Given the description of an element on the screen output the (x, y) to click on. 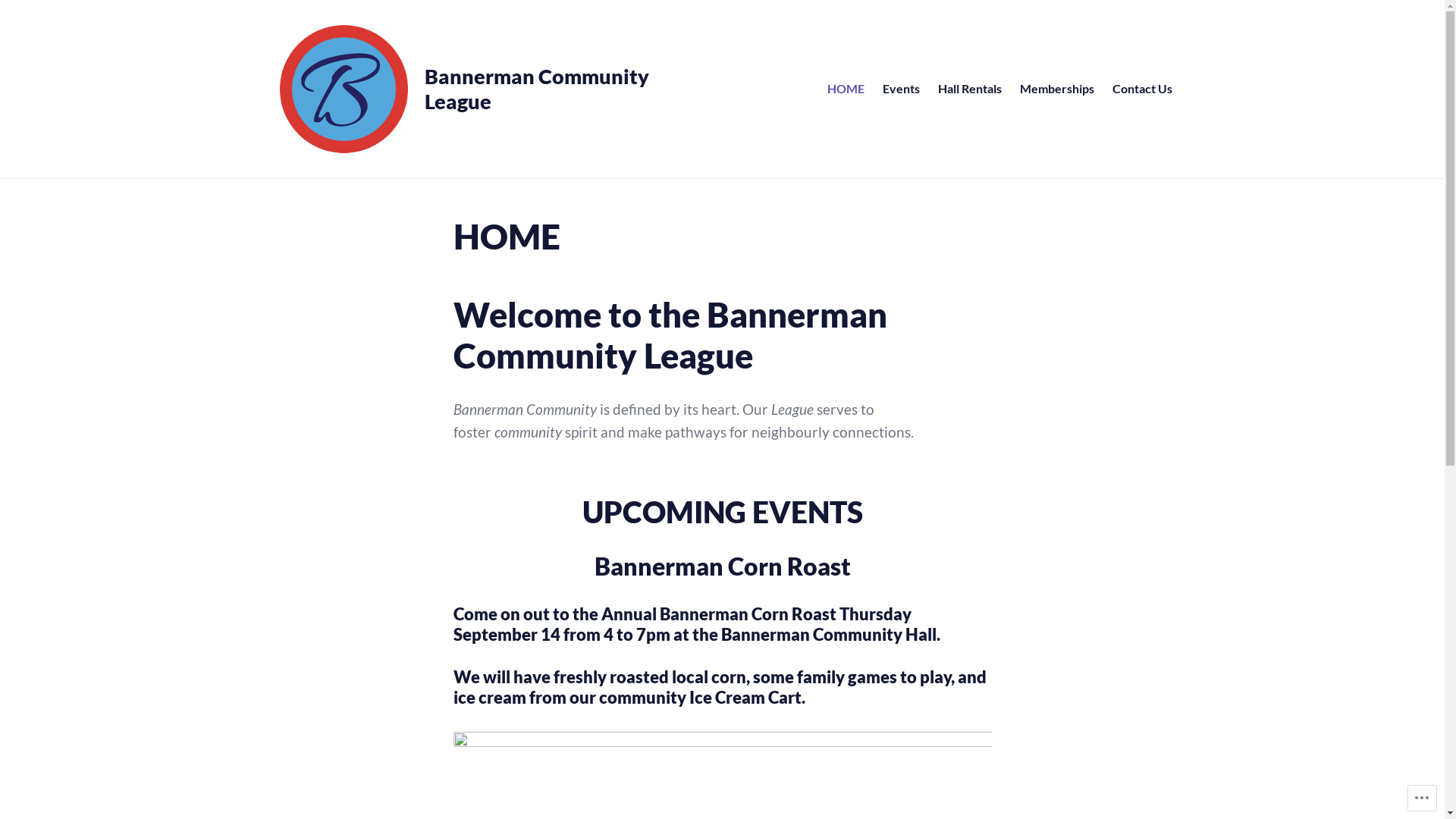
Memberships Element type: text (1056, 88)
Events Element type: text (900, 88)
Hall Rentals Element type: text (969, 88)
Contact Us Element type: text (1142, 88)
HOME Element type: text (845, 88)
Bannerman Community League Element type: text (539, 88)
